Given the description of an element on the screen output the (x, y) to click on. 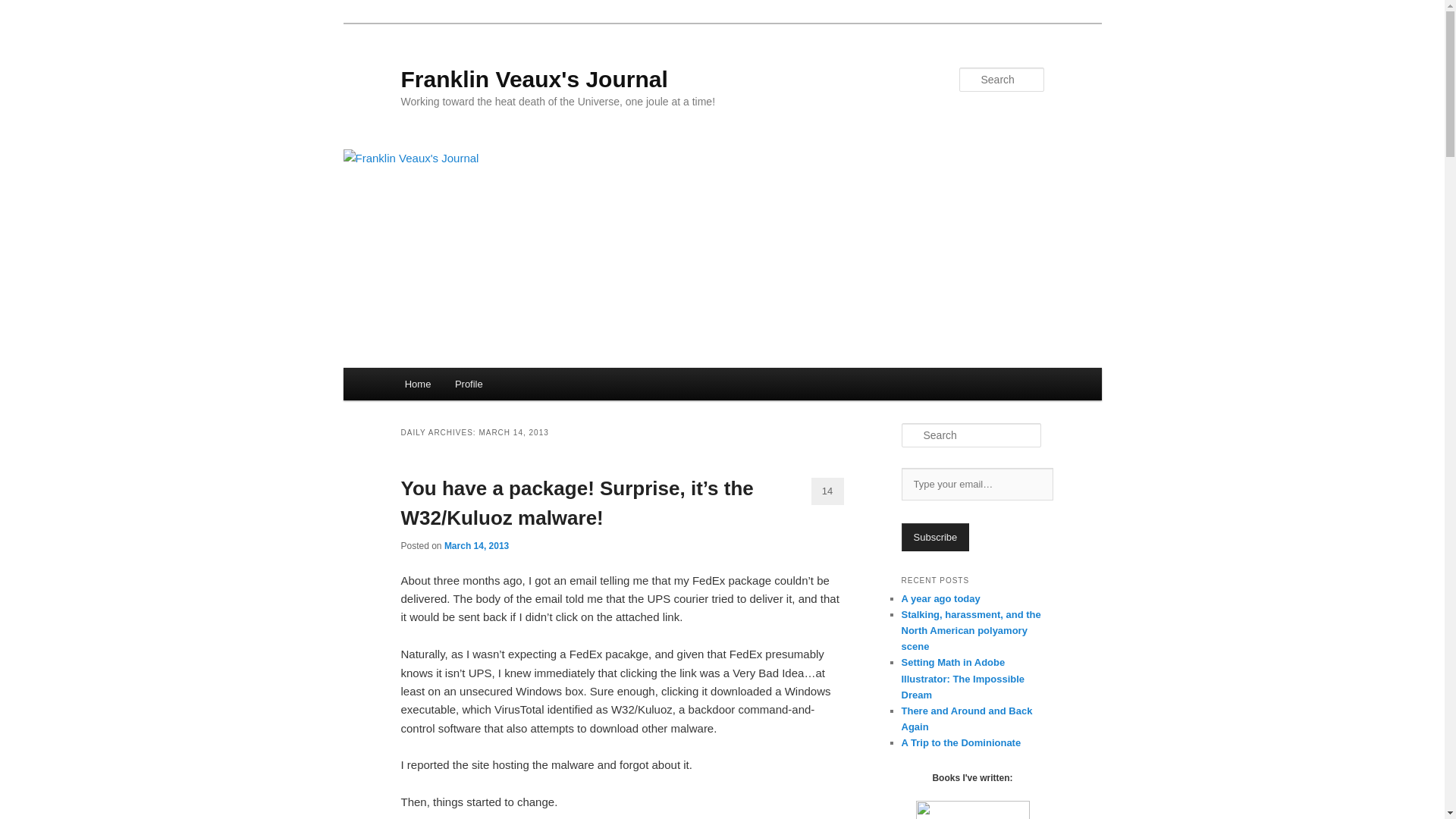
Subscribe (935, 537)
Please fill in this field. (976, 483)
4:02 pm (476, 545)
14 (827, 491)
Search (24, 8)
Franklin Veaux's Journal (533, 78)
A year ago today (940, 598)
Profile (468, 383)
Stalking, harassment, and the North American polyamory scene (971, 630)
A Trip to the Dominionate (960, 742)
March 14, 2013 (476, 545)
There and Around and Back Again (966, 718)
Search (21, 11)
Home (417, 383)
